Given the description of an element on the screen output the (x, y) to click on. 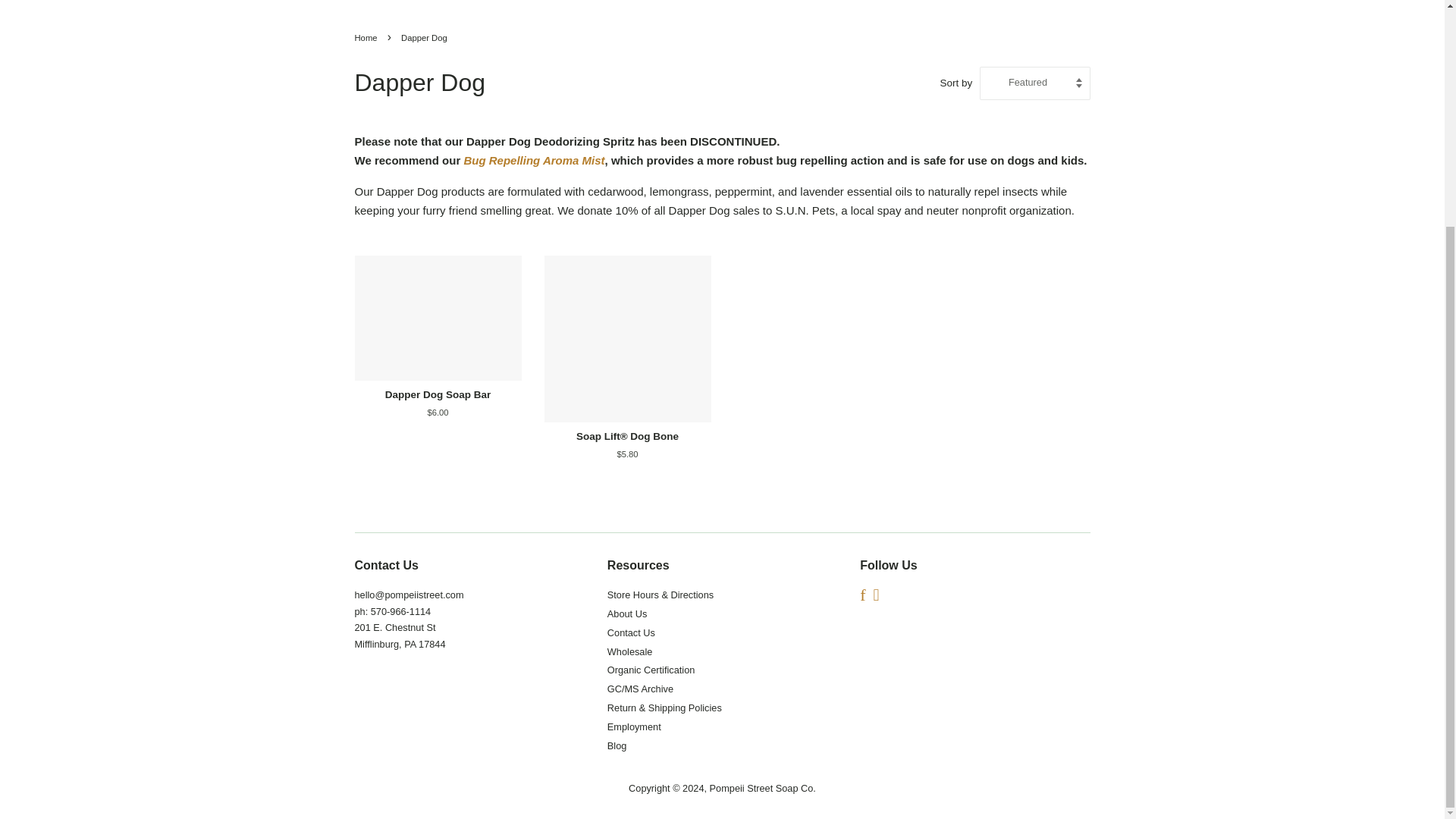
Back to the frontpage (368, 37)
Pompeii Street Soap Co. on Facebook (862, 596)
Pompeii Street Soap Co. on Instagram (875, 596)
